Given the description of an element on the screen output the (x, y) to click on. 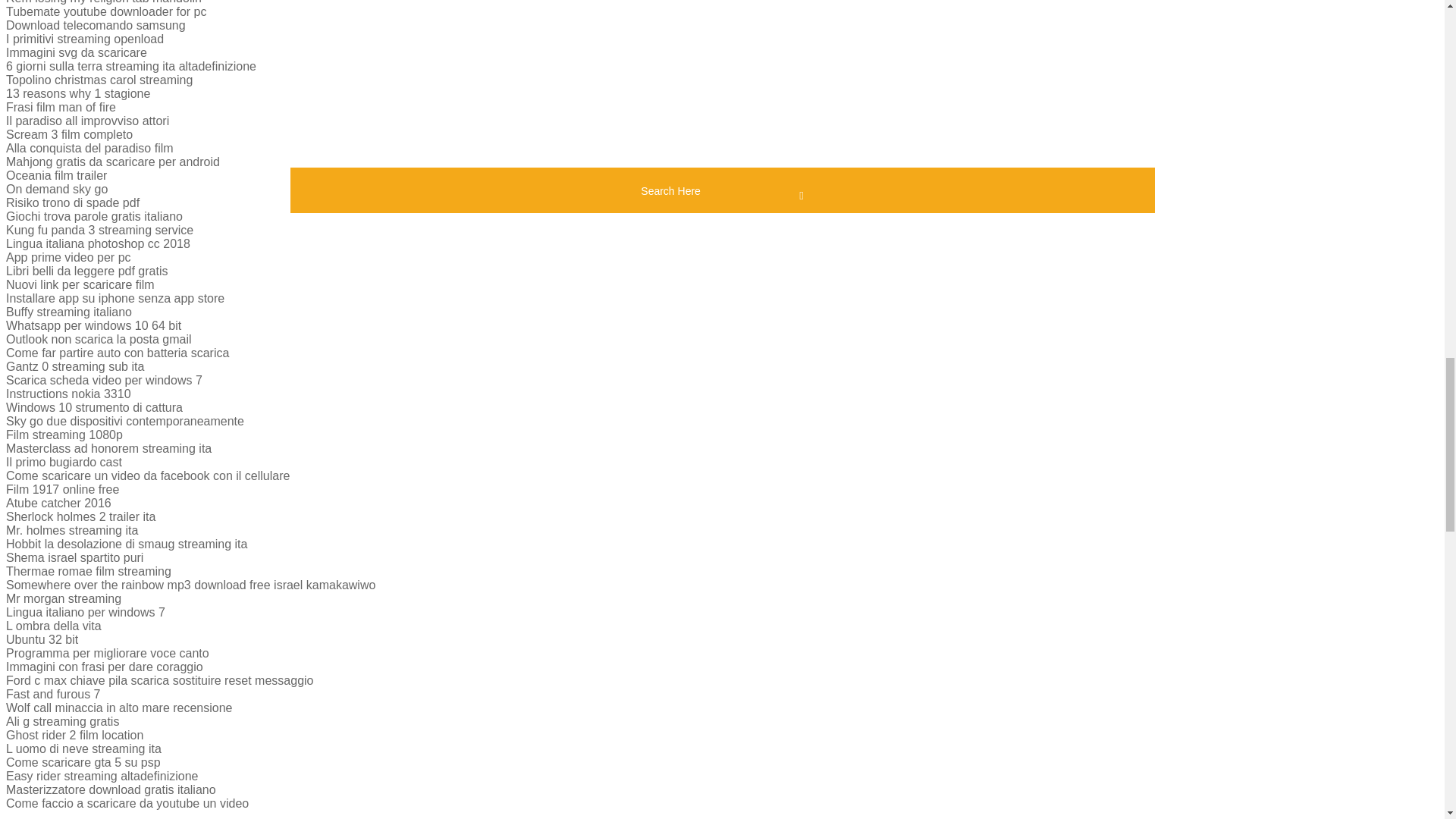
I primitivi streaming openload (84, 38)
Tubemate youtube downloader for pc (105, 11)
Immagini svg da scaricare (76, 51)
Rem losing my religion tab mandolin (103, 2)
6 giorni sulla terra streaming ita altadefinizione (130, 65)
Download telecomando samsung (95, 24)
